Given the description of an element on the screen output the (x, y) to click on. 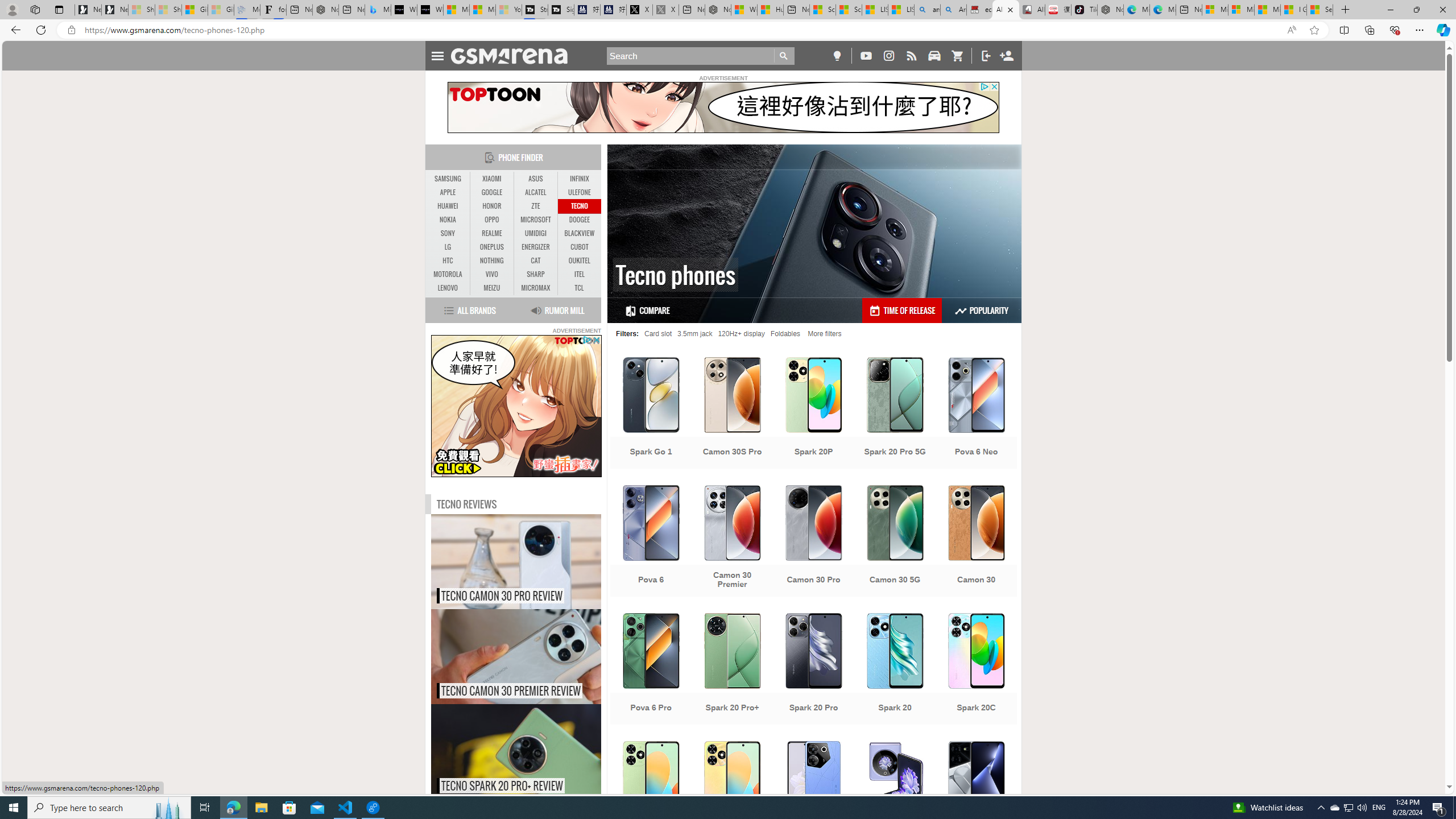
Spark 20P (813, 413)
SHARP (535, 273)
HUAWEI (448, 205)
DOOGEE (579, 219)
Foldables (785, 333)
XIAOMI (491, 178)
MOTOROLA (448, 273)
